Given the description of an element on the screen output the (x, y) to click on. 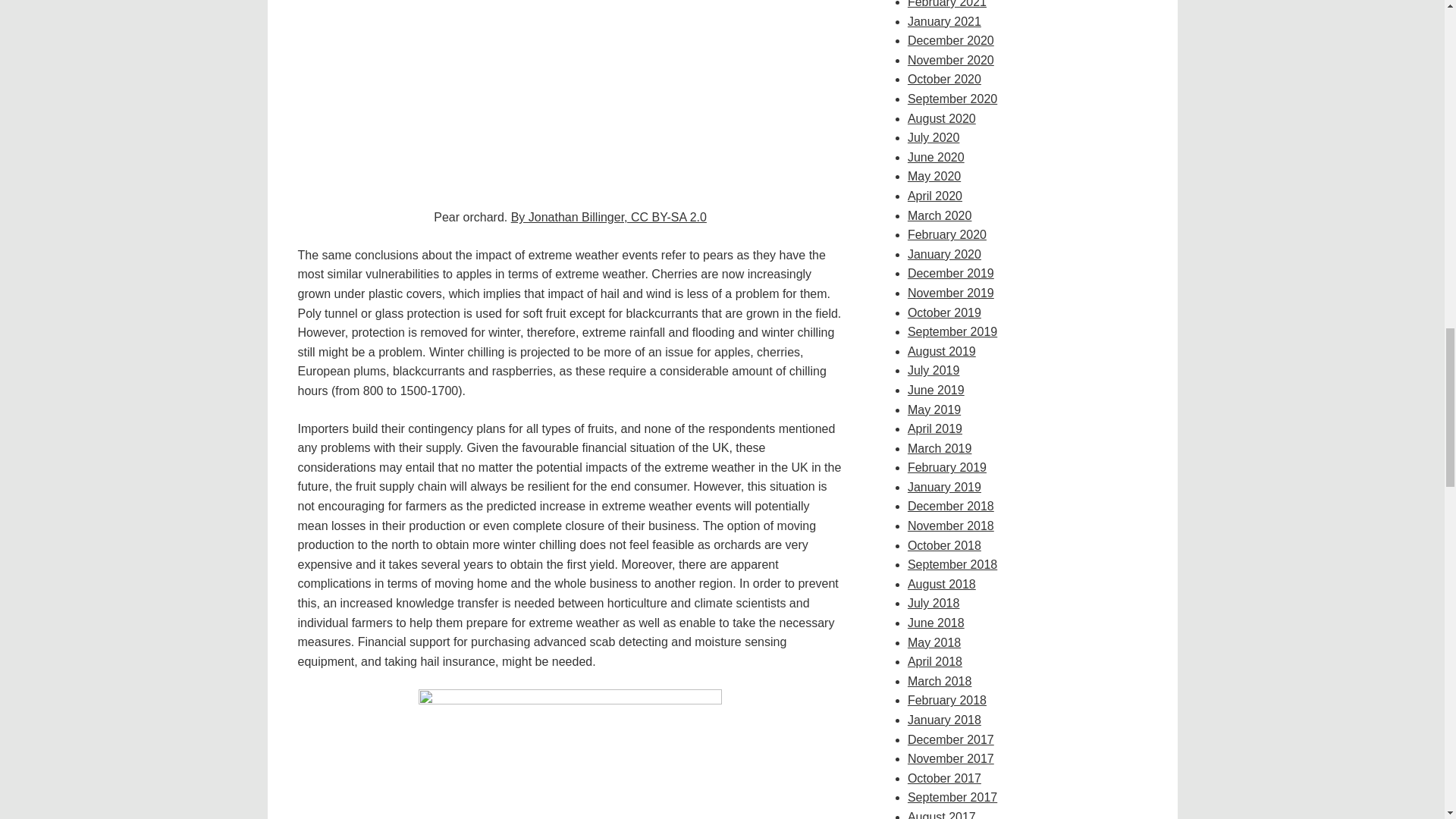
By Jonathan Billinger, CC BY-SA 2.0 (608, 216)
